Given the description of an element on the screen output the (x, y) to click on. 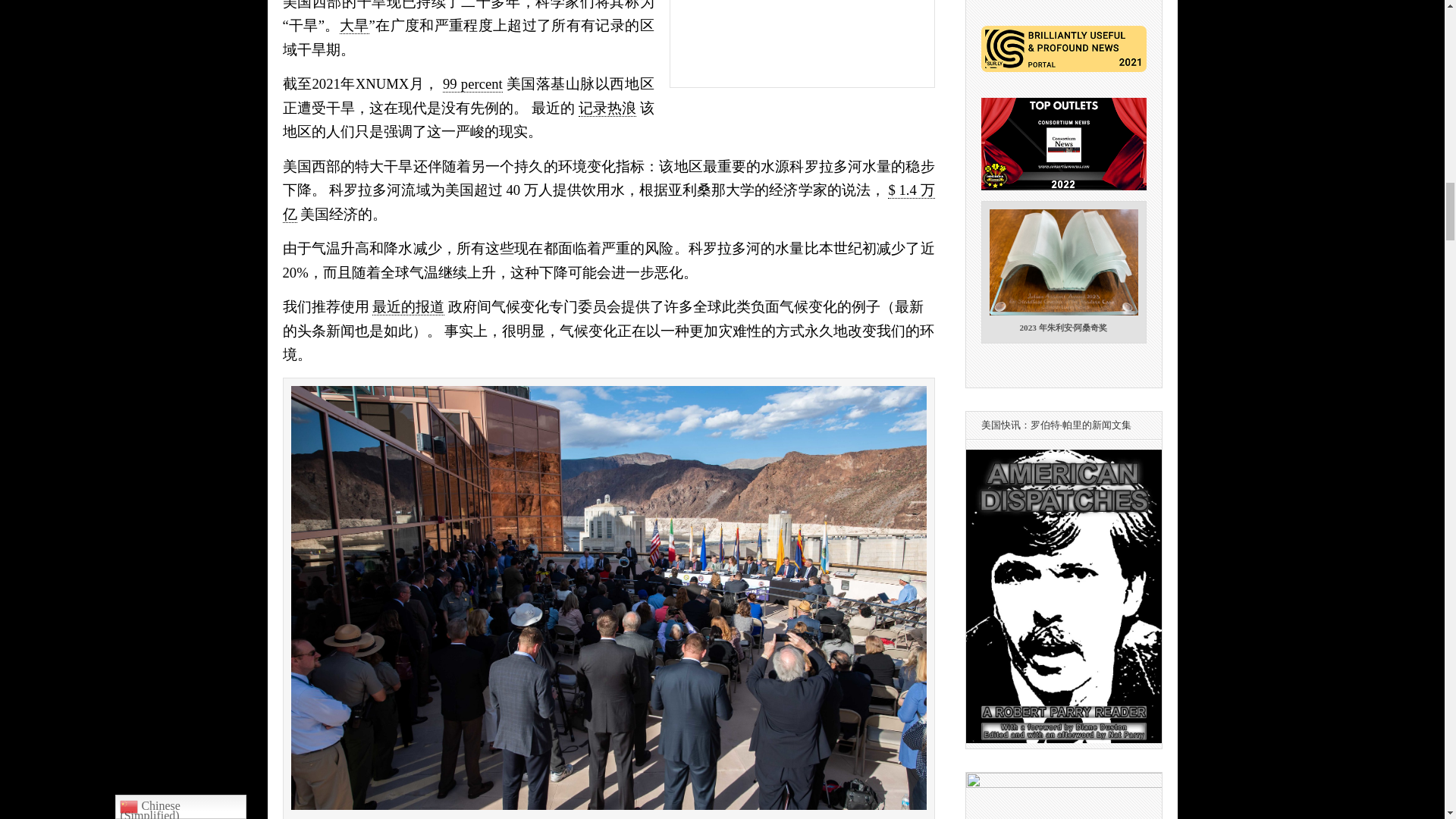
99 percent (472, 84)
